Given the description of an element on the screen output the (x, y) to click on. 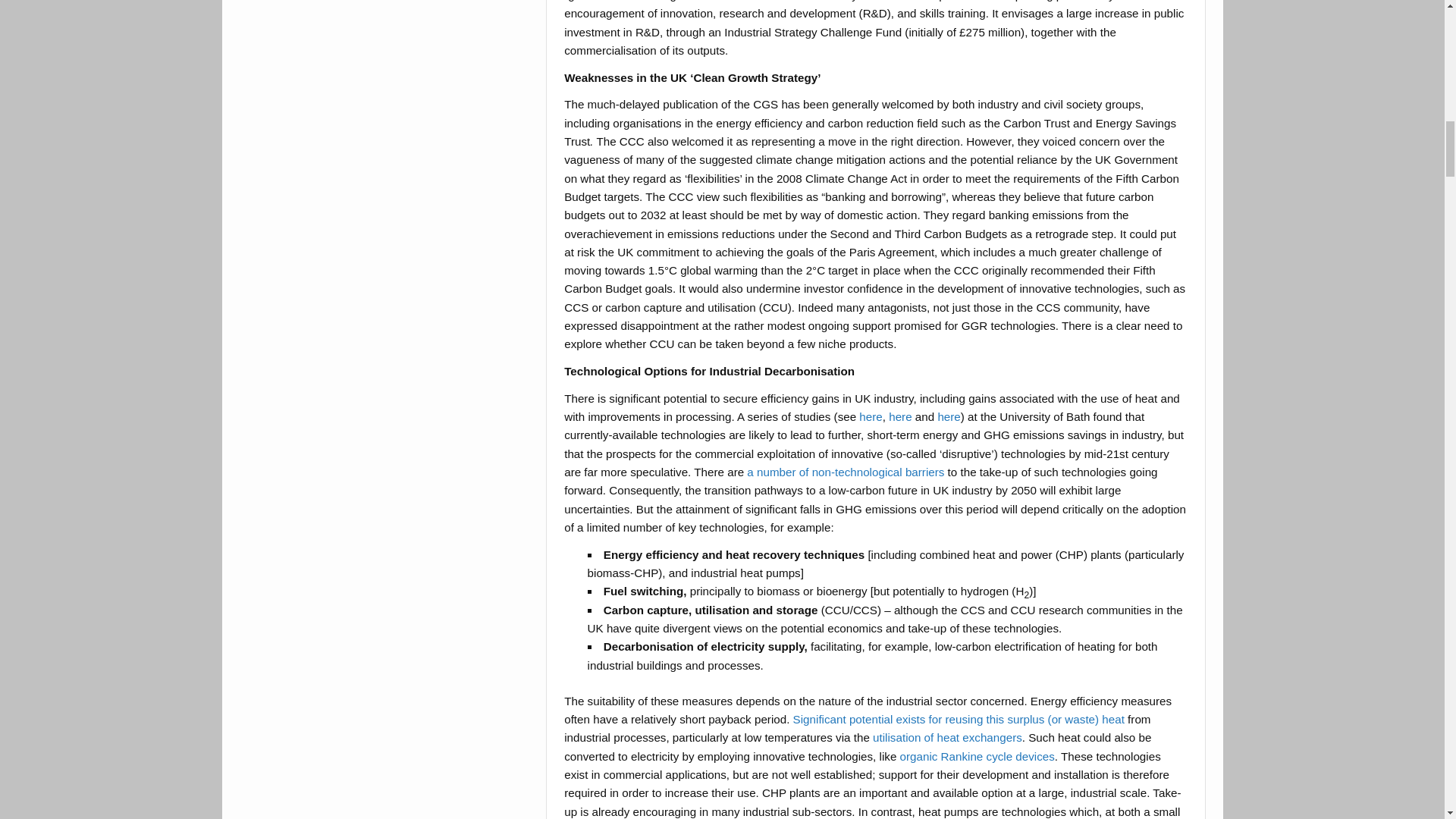
utilisation of heat exchangers (947, 737)
here (948, 416)
a number of non-technological barriers (844, 472)
here (899, 416)
here (870, 416)
organic Rankine cycle devices (976, 756)
